Given the description of an element on the screen output the (x, y) to click on. 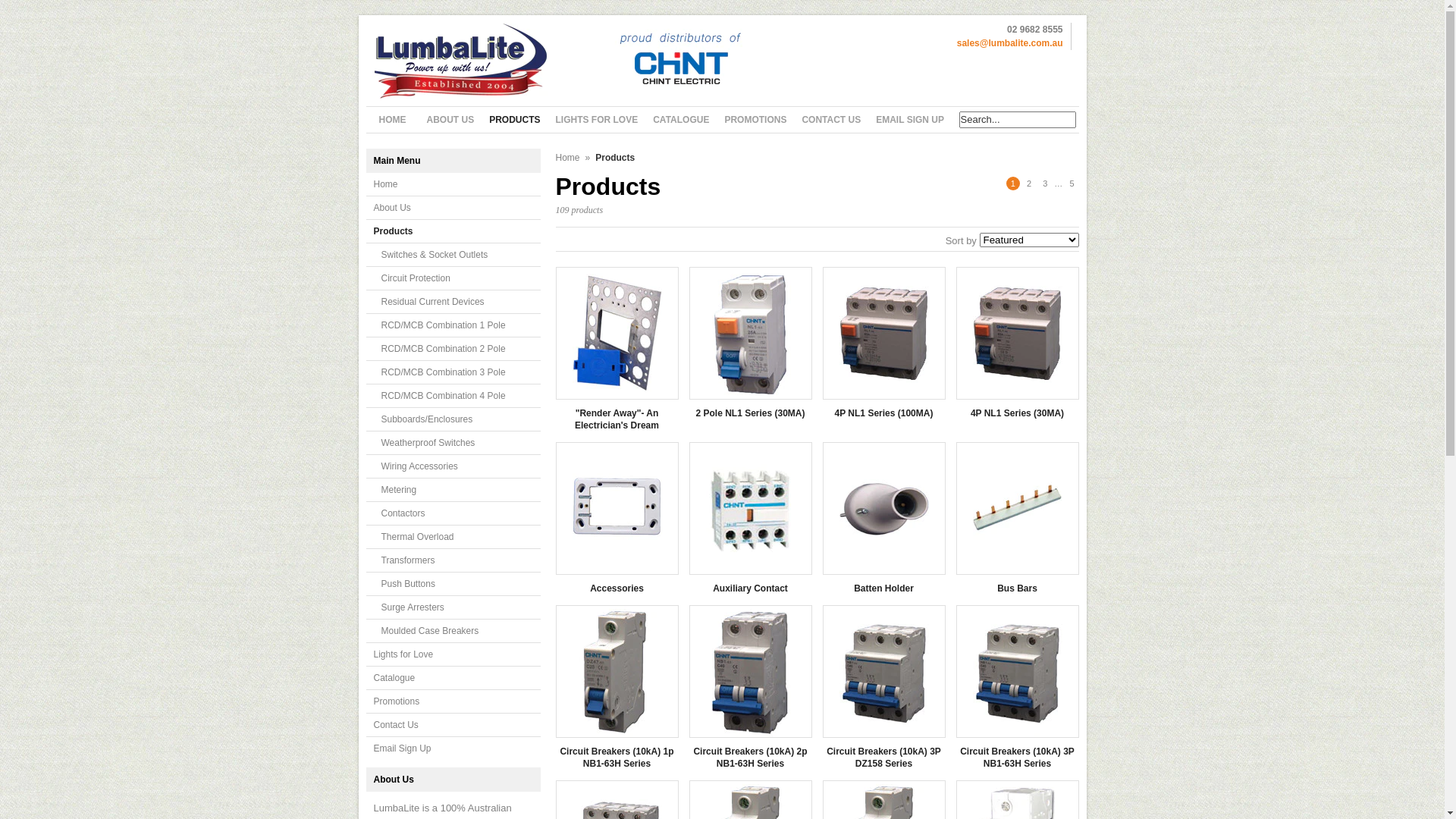
Bus Bars Element type: text (1016, 588)
HOME Element type: text (391, 119)
"Render Away"- An Electrician's Dream Element type: text (616, 419)
Metering Element type: text (452, 490)
Home Element type: text (452, 184)
4P NL1 Series (100MA) Element type: text (883, 413)
EMAIL SIGN UP Element type: text (909, 119)
Circuit Breakers (10kA) 3P NB1-63H Series Element type: text (1016, 757)
ABOUT US Element type: text (449, 119)
Contact Us Element type: text (452, 725)
Circuit Breakers (10kA) 3P DZ158 Series Element type: text (883, 757)
Batten Holder Element type: text (883, 588)
Email Sign Up Element type: text (452, 748)
Products Element type: text (452, 231)
CONTACT US Element type: text (830, 119)
5 Element type: text (1071, 183)
2 Pole NL1 Series (30MA) Element type: text (749, 413)
Transformers Element type: text (452, 560)
Auxiliary Contact Element type: text (749, 588)
3 Element type: text (1044, 183)
Switches & Socket Outlets Element type: text (452, 254)
Subboards/Enclosures Element type: text (452, 419)
Circuit Breakers (10kA) 1p NB1-63H Series Element type: text (616, 757)
Wiring Accessories Element type: text (452, 466)
2 Element type: text (1028, 183)
Moulded Case Breakers Element type: text (452, 631)
Weatherproof Switches Element type: text (452, 443)
Thermal Overload Element type: text (452, 537)
Push Buttons Element type: text (452, 584)
Catalogue Element type: text (452, 678)
RCD/MCB Combination 1 Pole Element type: text (452, 325)
Residual Current Devices Element type: text (452, 301)
Home Element type: text (567, 157)
sales@lumbalite.com.au Element type: text (1010, 42)
4P NL1 Series (30MA) Element type: text (1016, 413)
CATALOGUE Element type: text (680, 119)
PRODUCTS Element type: text (514, 119)
Circuit Protection Element type: text (452, 278)
PROMOTIONS Element type: text (754, 119)
Promotions Element type: text (452, 701)
Accessories Element type: text (616, 588)
RCD/MCB Combination 2 Pole Element type: text (452, 348)
Surge Arresters Element type: text (452, 607)
RCD/MCB Combination 3 Pole Element type: text (452, 372)
Lights for Love Element type: text (452, 654)
Circuit Breakers (10kA) 2p NB1-63H Series Element type: text (749, 757)
Contactors Element type: text (452, 513)
LIGHTS FOR LOVE Element type: text (597, 119)
RCD/MCB Combination 4 Pole Element type: text (452, 395)
About Us Element type: text (452, 207)
